Given the description of an element on the screen output the (x, y) to click on. 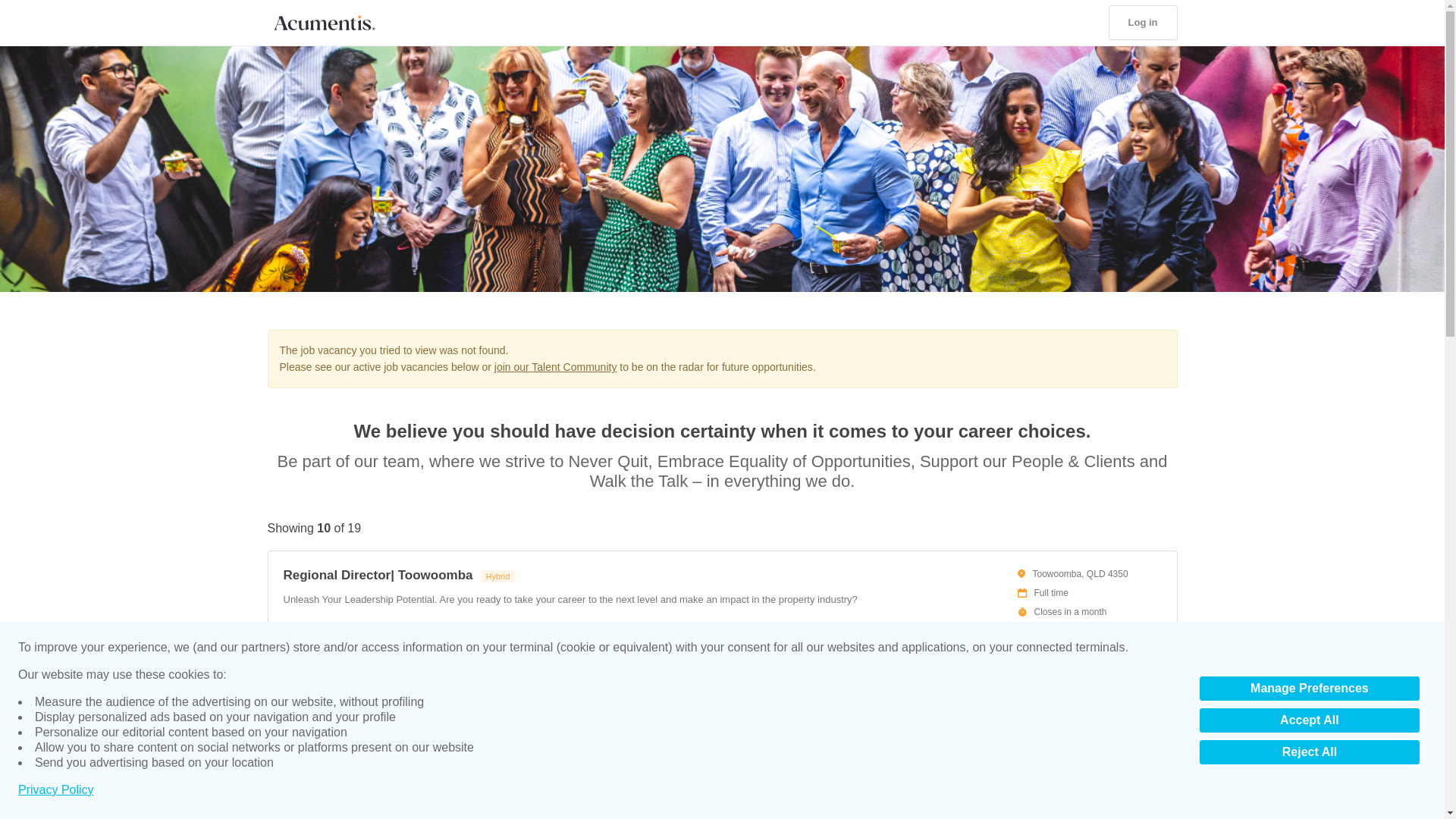
Privacy Policy (55, 789)
Accept All (1309, 720)
Manage Preferences (1309, 688)
Reject All (1309, 751)
join our Talent Community (556, 367)
